Given the description of an element on the screen output the (x, y) to click on. 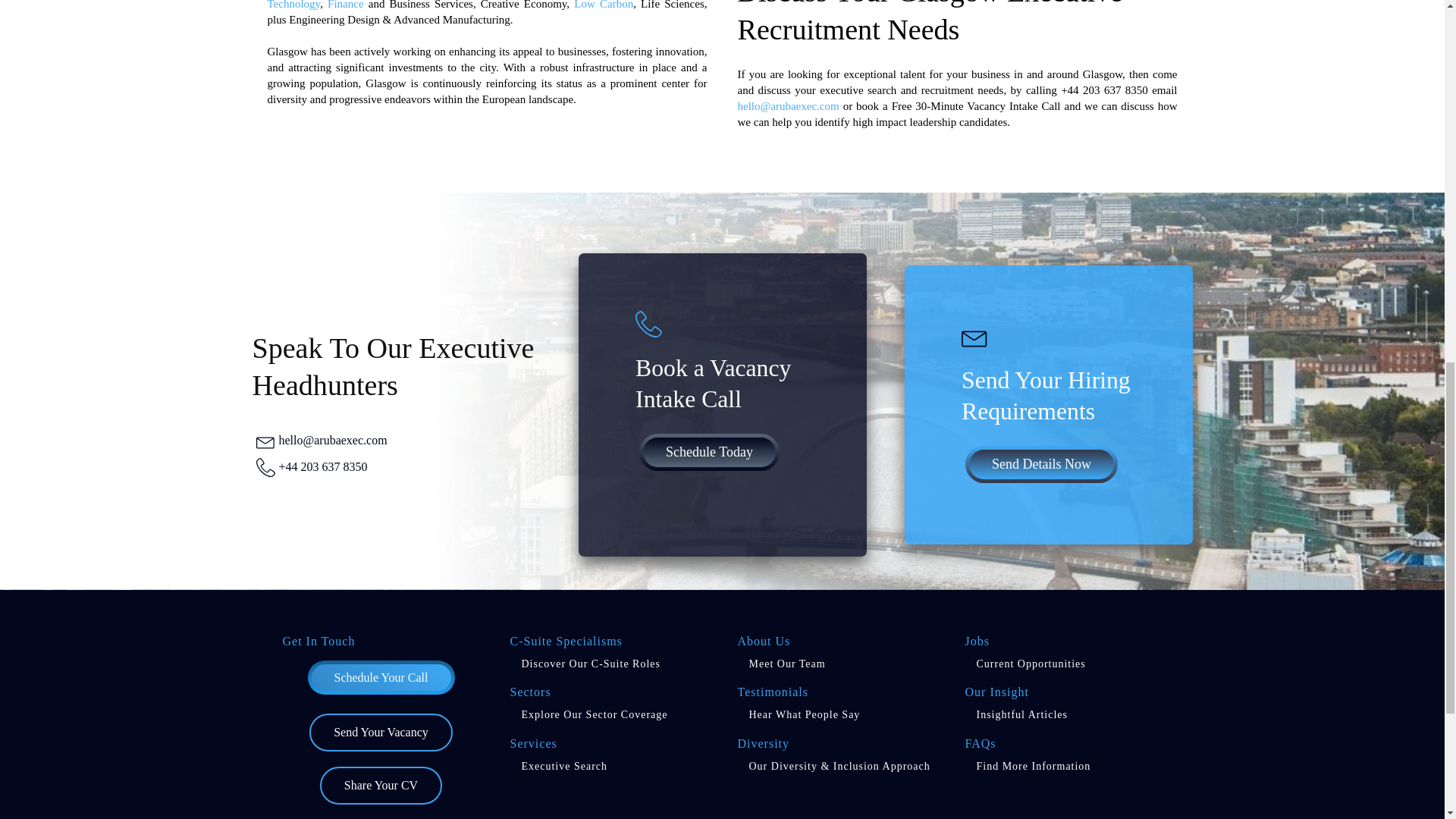
Technology (293, 4)
Low Carbon (603, 4)
Finance (344, 4)
